Given the description of an element on the screen output the (x, y) to click on. 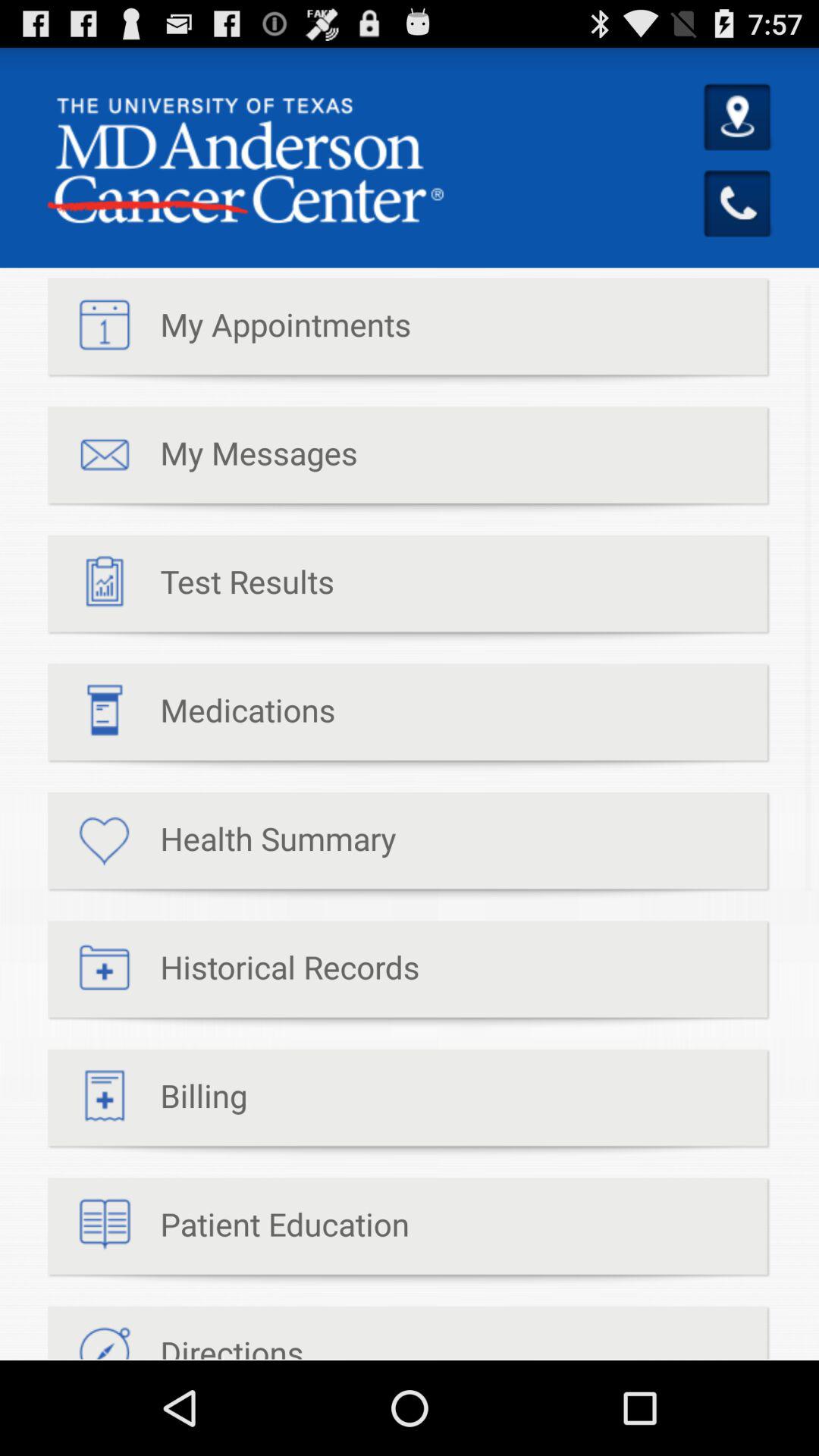
click the test results item (190, 589)
